Given the description of an element on the screen output the (x, y) to click on. 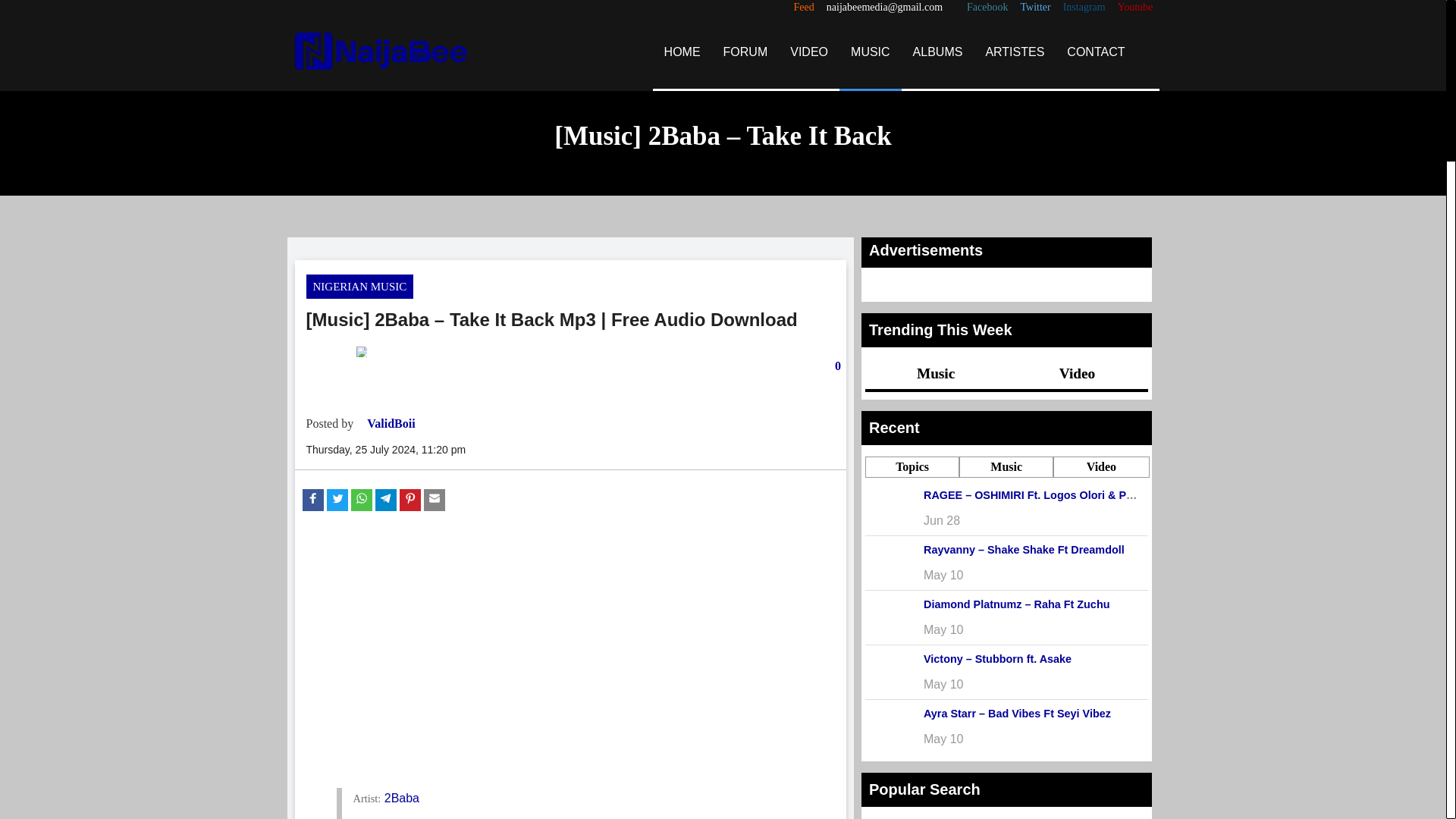
2Baba (401, 797)
Feed (803, 7)
Instagram (1083, 7)
ALBUMS (937, 51)
Twitter (1034, 7)
Facebook (986, 7)
Youtube (1135, 7)
ValidBoii (390, 422)
ARTISTES (1014, 51)
CONTACT (1095, 51)
NIGERIAN MUSIC (359, 286)
FORUM (744, 51)
